Given the description of an element on the screen output the (x, y) to click on. 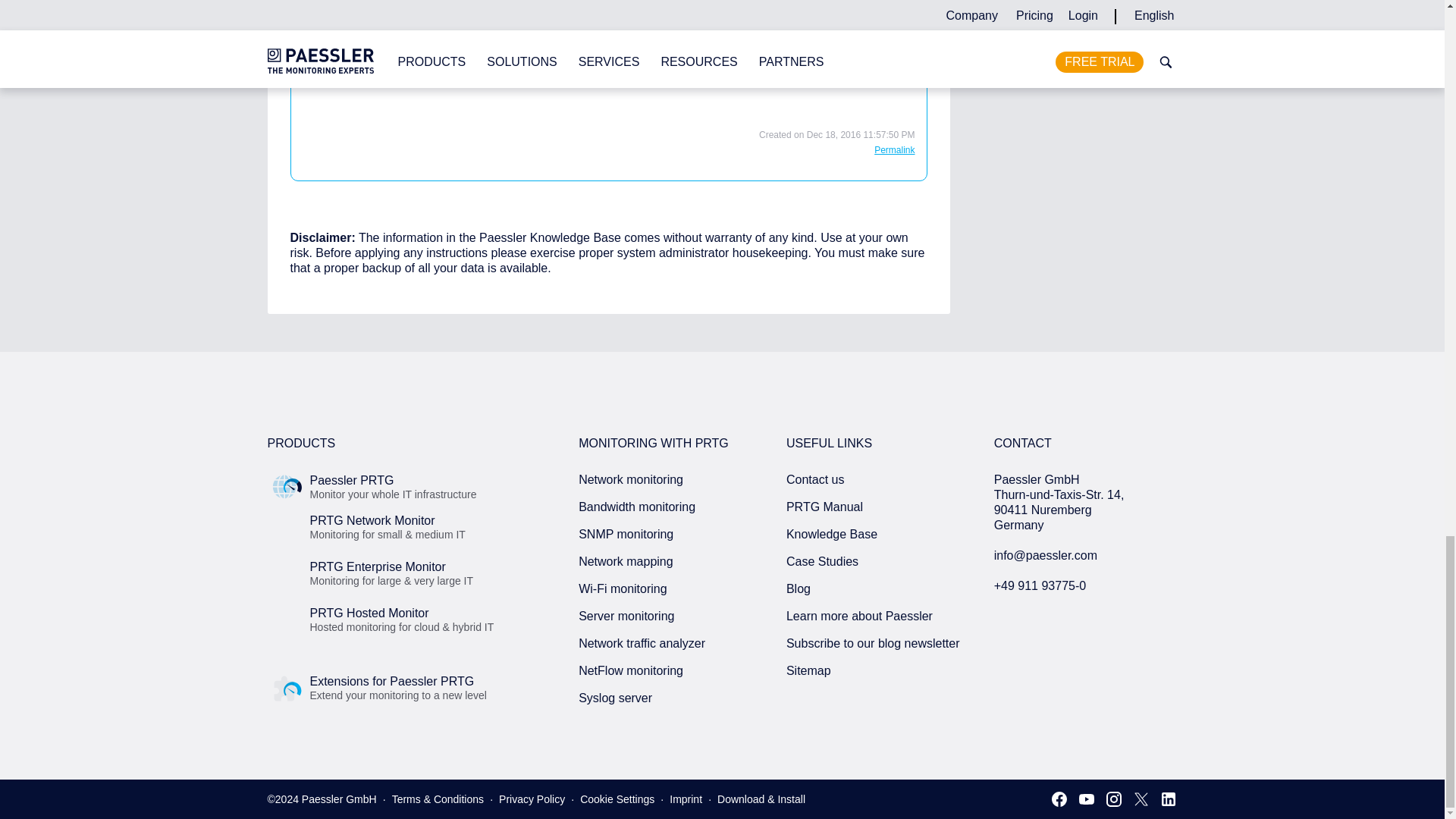
Permalink to this reply (894, 149)
